Given the description of an element on the screen output the (x, y) to click on. 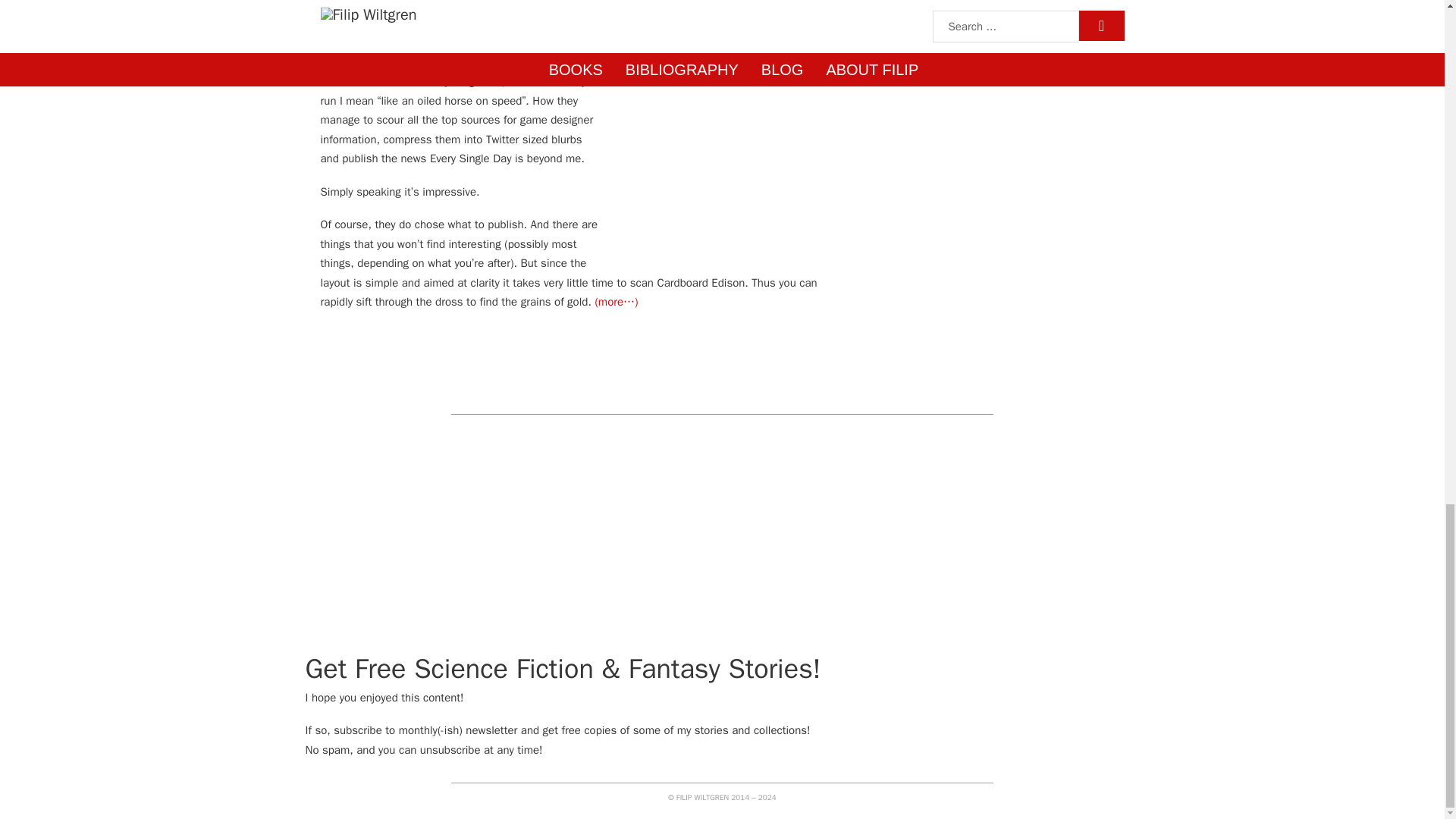
RESOURCES (761, 6)
CARDBOARD EDISON (521, 6)
NEWS SITES (692, 6)
REVIEW (818, 6)
GAME DESIGN (617, 6)
AGGREGATORS (425, 6)
